Given the description of an element on the screen output the (x, y) to click on. 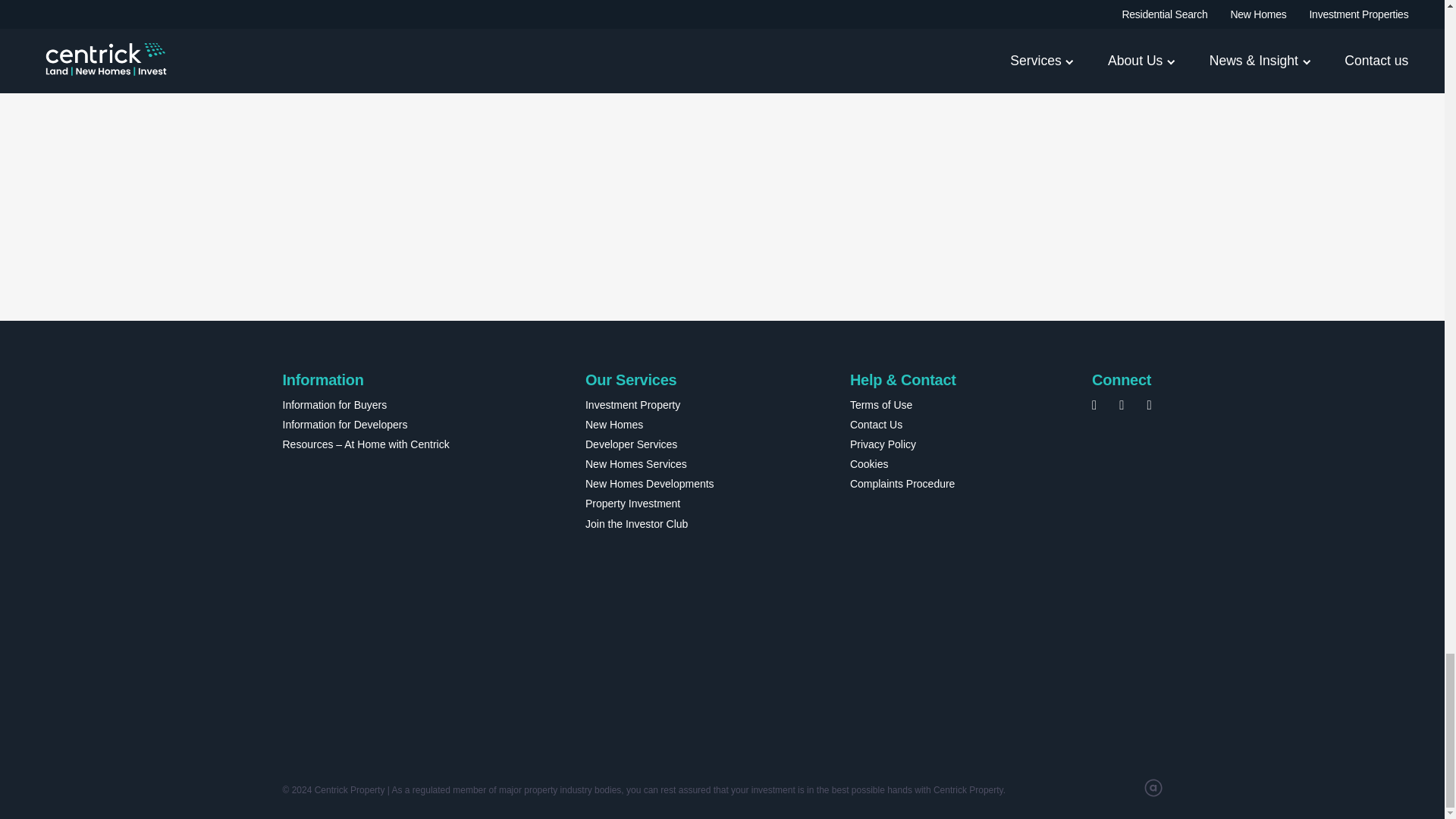
Property Ombudsman (454, 607)
